Given the description of an element on the screen output the (x, y) to click on. 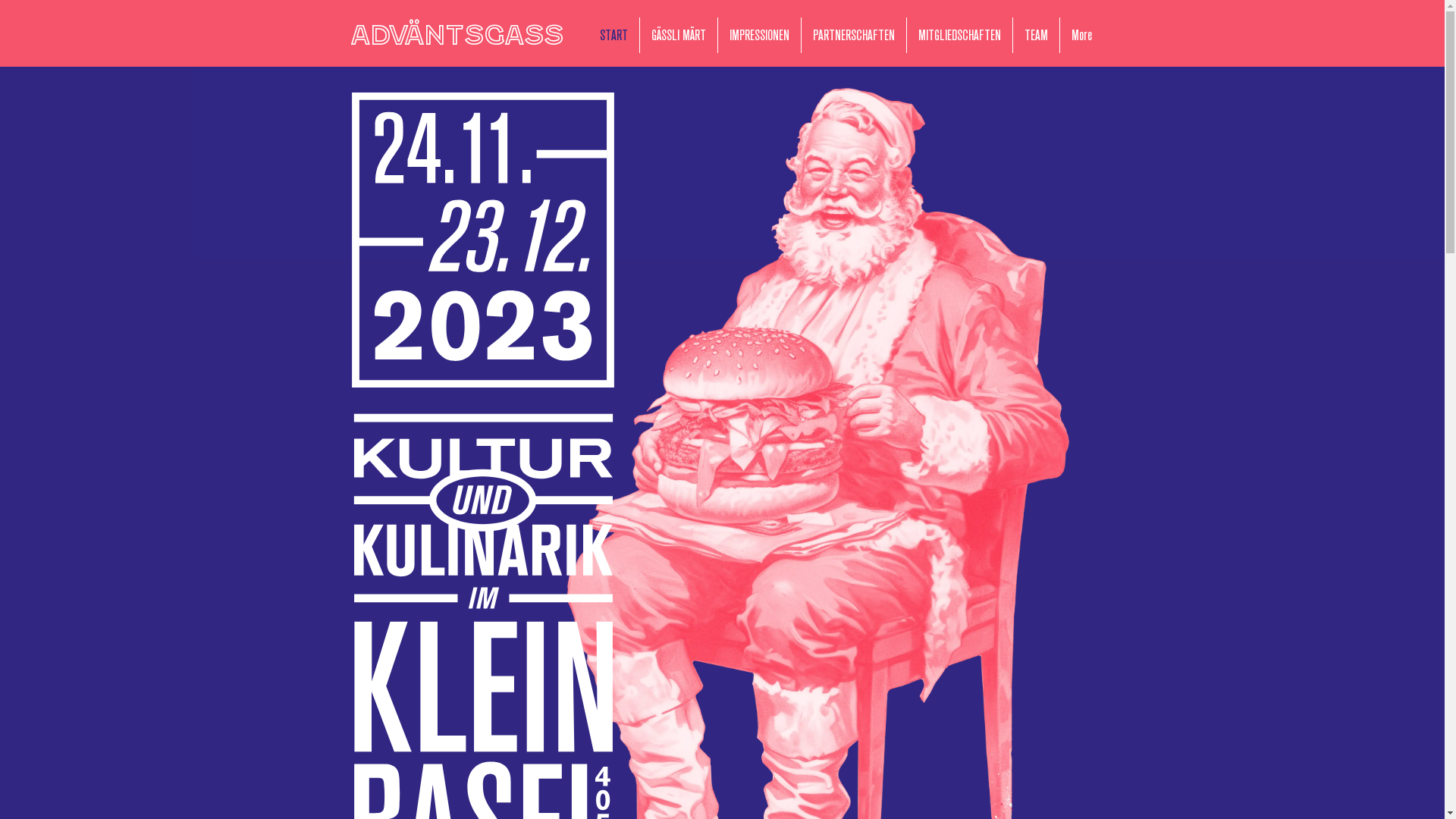
IMPRESSIONEN Element type: text (758, 35)
MITGLIEDSCHAFTEN Element type: text (959, 35)
TEAM Element type: text (1036, 35)
PARTNERSCHAFTEN Element type: text (852, 35)
START Element type: text (613, 35)
